Given the description of an element on the screen output the (x, y) to click on. 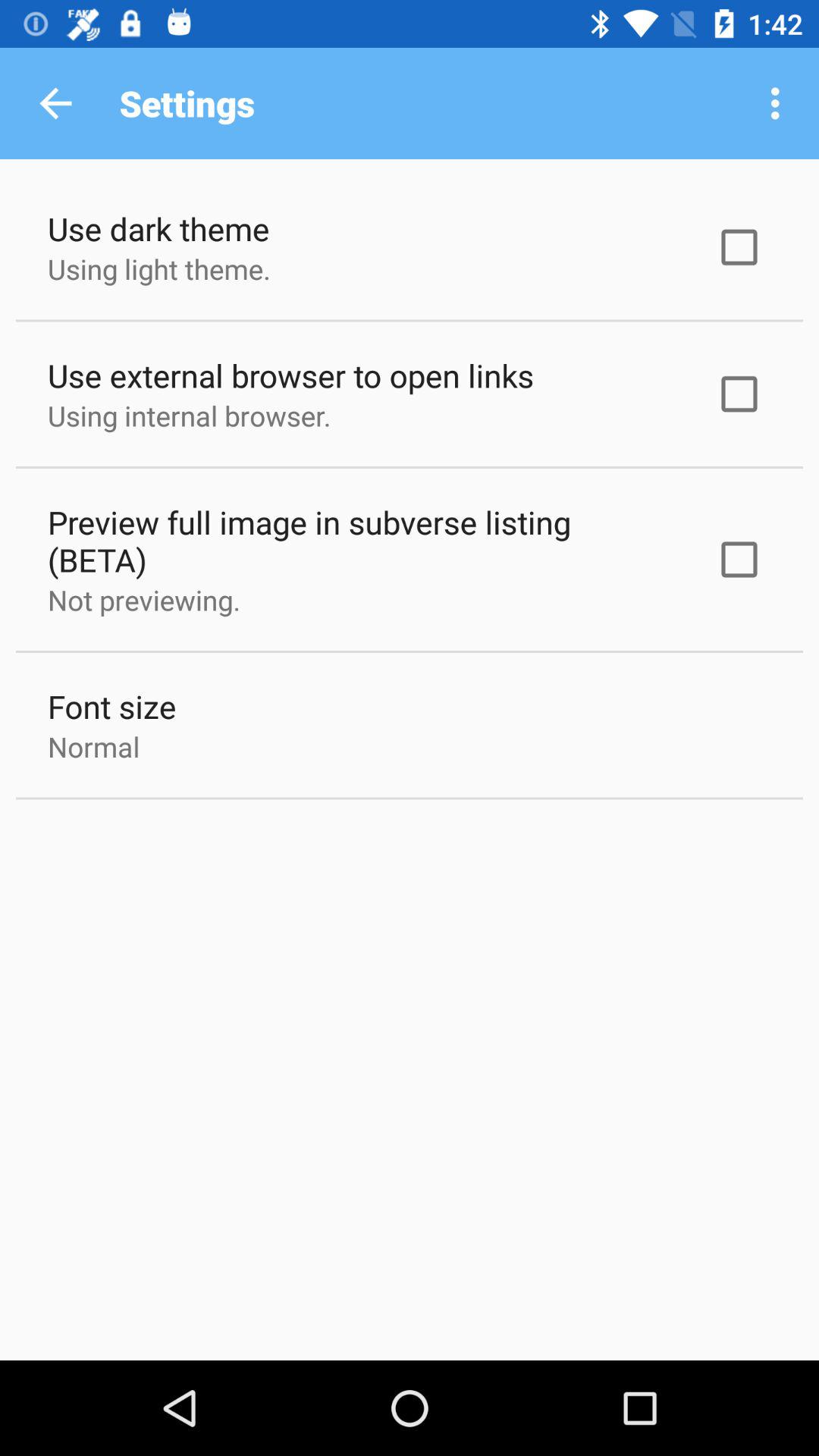
tap the icon above using internal browser. icon (290, 374)
